Given the description of an element on the screen output the (x, y) to click on. 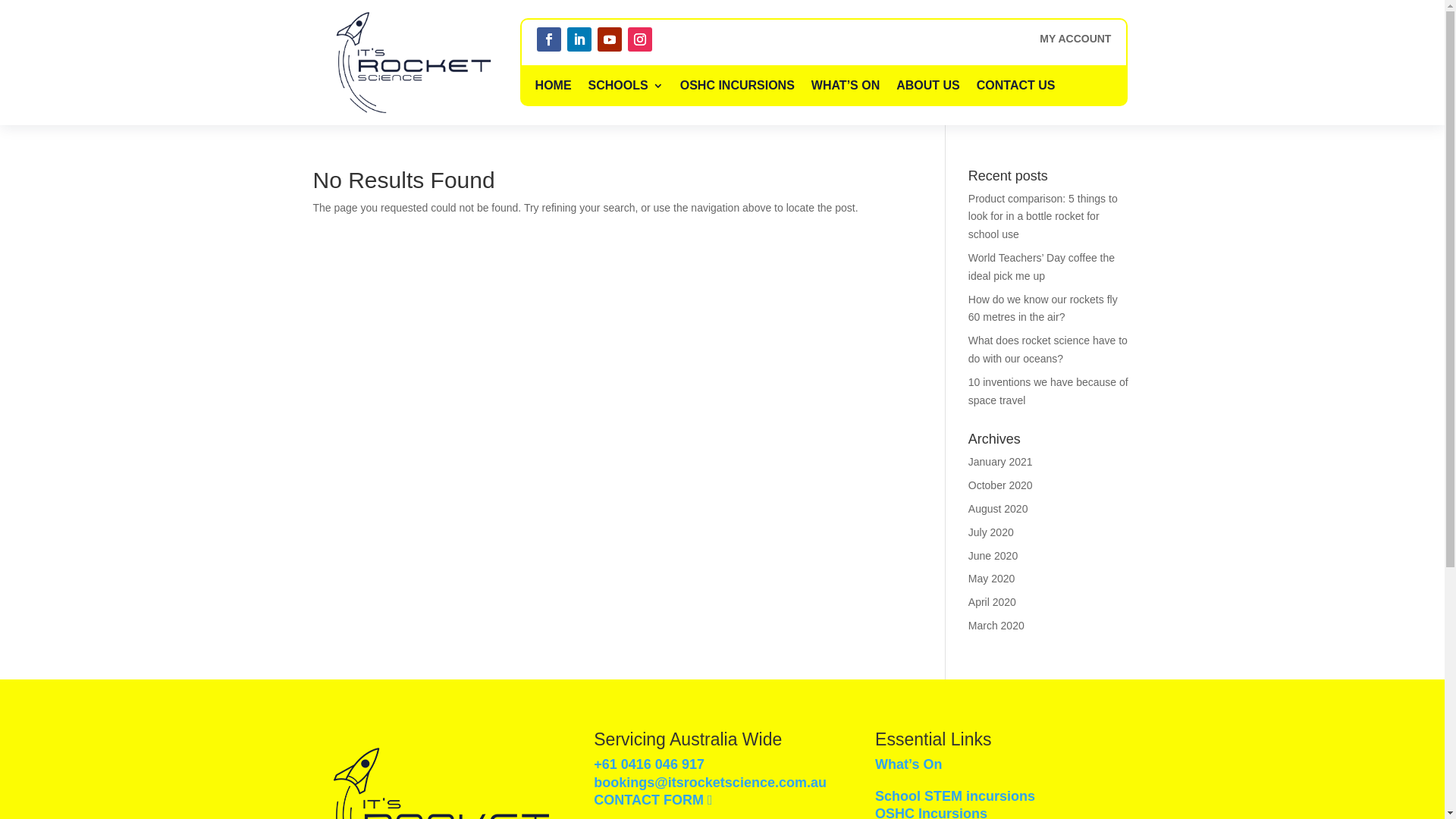
April 2020 Element type: text (992, 602)
MY ACCOUNT Element type: text (1074, 41)
January 2021 Element type: text (1000, 461)
ABOUT US Element type: text (928, 85)
bookings@itsrocketscience.com.au Element type: text (709, 782)
10 inventions we have because of space travel Element type: text (1048, 391)
HOME Element type: text (553, 85)
OSHC INCURSIONS Element type: text (737, 85)
SCHOOLS Element type: text (625, 85)
June 2020 Element type: text (992, 555)
May 2020 Element type: text (991, 578)
Follow on LinkedIn Element type: hover (579, 39)
August 2020 Element type: text (998, 508)
How do we know our rockets fly 60 metres in the air? Element type: text (1042, 308)
What does rocket science have to do with our oceans? Element type: text (1047, 349)
Follow on Instagram Element type: hover (639, 39)
School STEM incursions Element type: text (955, 795)
Follow on Facebook Element type: hover (548, 39)
October 2020 Element type: text (1000, 485)
Follow on Youtube Element type: hover (609, 39)
its-rocket-science-logo-b300 Element type: hover (413, 62)
March 2020 Element type: text (996, 625)
CONTACT US Element type: text (1015, 85)
July 2020 Element type: text (990, 532)
+61 0416 046 917 Element type: text (648, 763)
